Given the description of an element on the screen output the (x, y) to click on. 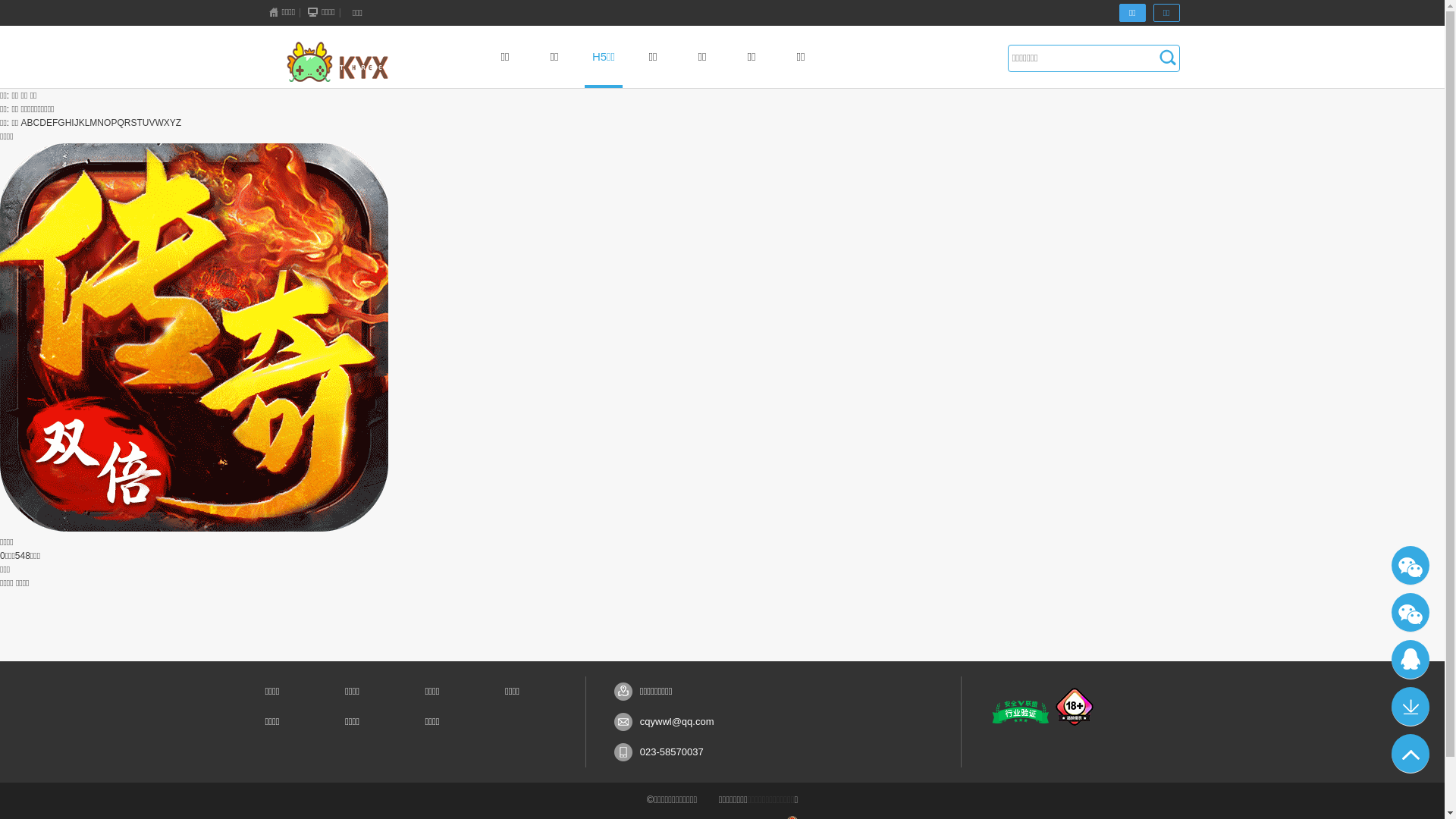
W Element type: text (158, 122)
G Element type: text (60, 122)
X Element type: text (166, 122)
N Element type: text (100, 122)
J Element type: text (76, 122)
R Element type: text (127, 122)
D Element type: text (42, 122)
Z Element type: text (178, 122)
A Element type: text (24, 122)
M Element type: text (93, 122)
H Element type: text (68, 122)
Q Element type: text (119, 122)
Y Element type: text (172, 122)
I Element type: text (72, 122)
O Element type: text (106, 122)
S Element type: text (133, 122)
B Element type: text (30, 122)
F Element type: text (54, 122)
T Element type: text (138, 122)
E Element type: text (49, 122)
U Element type: text (145, 122)
C Element type: text (36, 122)
P Element type: text (113, 122)
L Element type: text (87, 122)
K Element type: text (81, 122)
V Element type: text (151, 122)
